Given the description of an element on the screen output the (x, y) to click on. 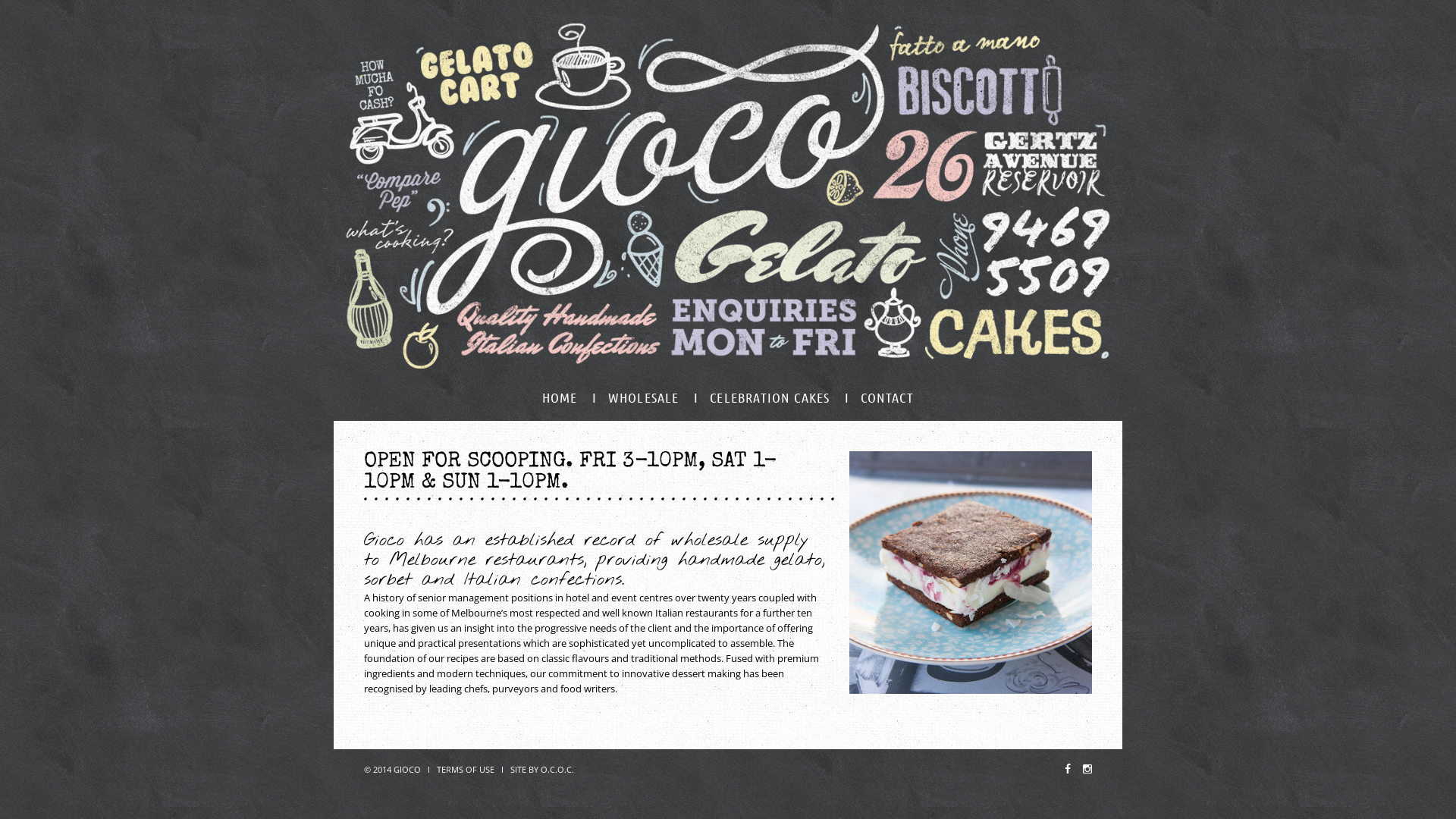
WHOLESALE Element type: text (643, 397)
CELEBRATION CAKES Element type: text (769, 397)
TERMS OF USE Element type: text (465, 769)
Facebook Element type: hover (1067, 768)
CONTACT Element type: text (887, 397)
HOME Element type: text (559, 397)
